Given the description of an element on the screen output the (x, y) to click on. 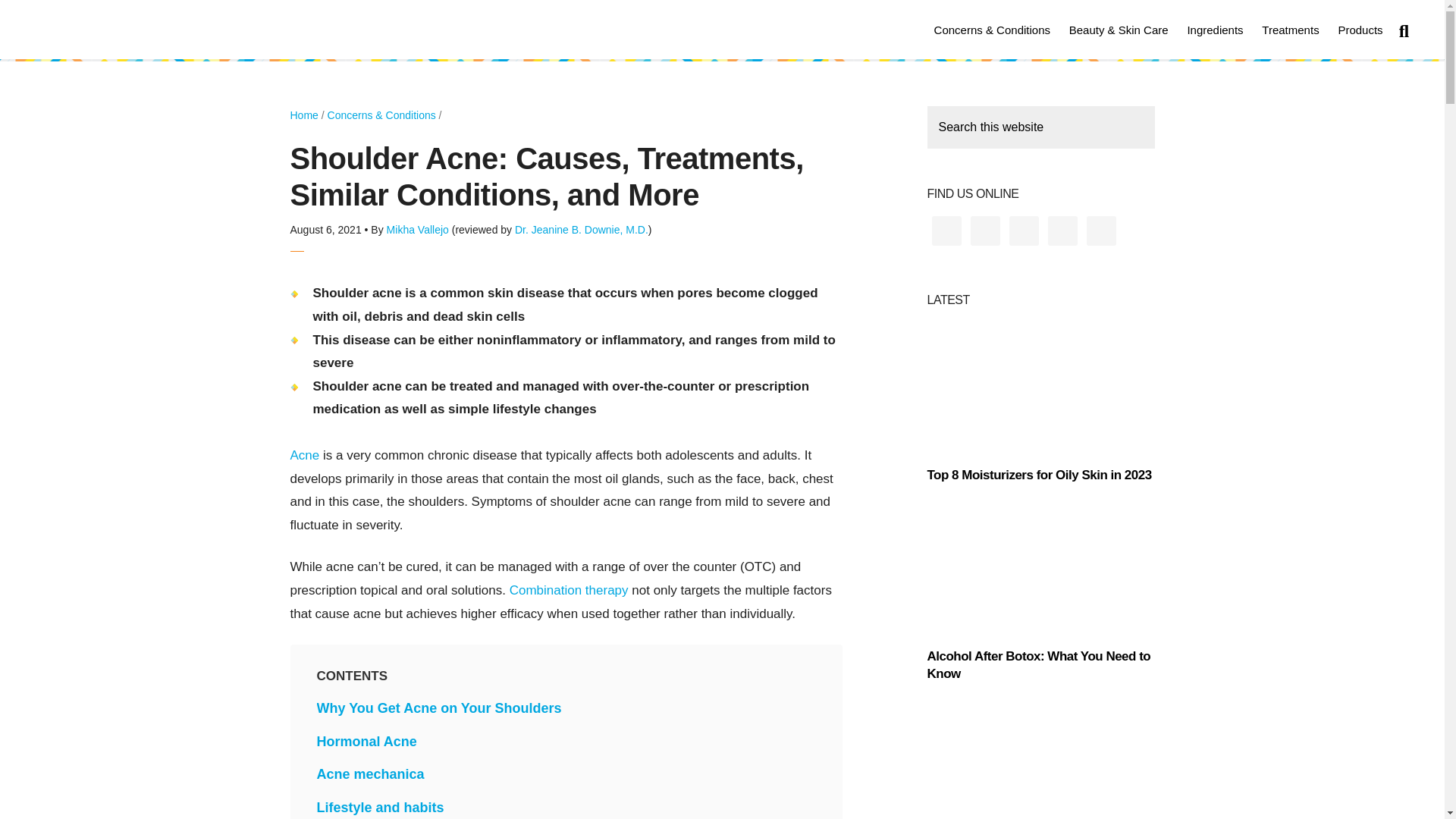
Hormonal Acne (366, 741)
Why You Get Acne on Your Shoulders (439, 708)
Acne mechanica (371, 774)
Ingredients (1214, 29)
Treatments (1289, 29)
